Given the description of an element on the screen output the (x, y) to click on. 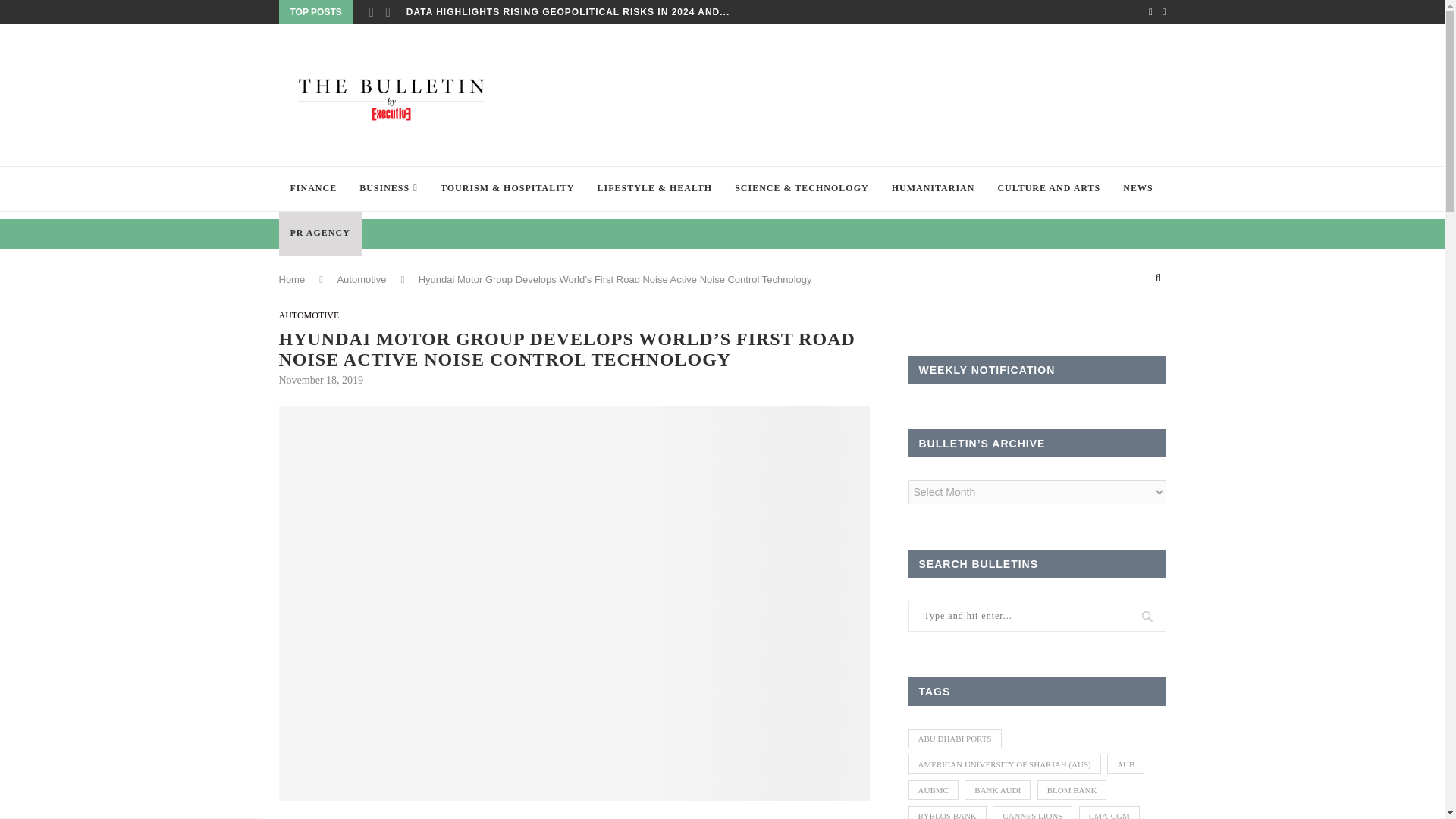
DATA HIGHLIGHTS RISING GEOPOLITICAL RISKS IN 2024 AND... (567, 12)
